Given the description of an element on the screen output the (x, y) to click on. 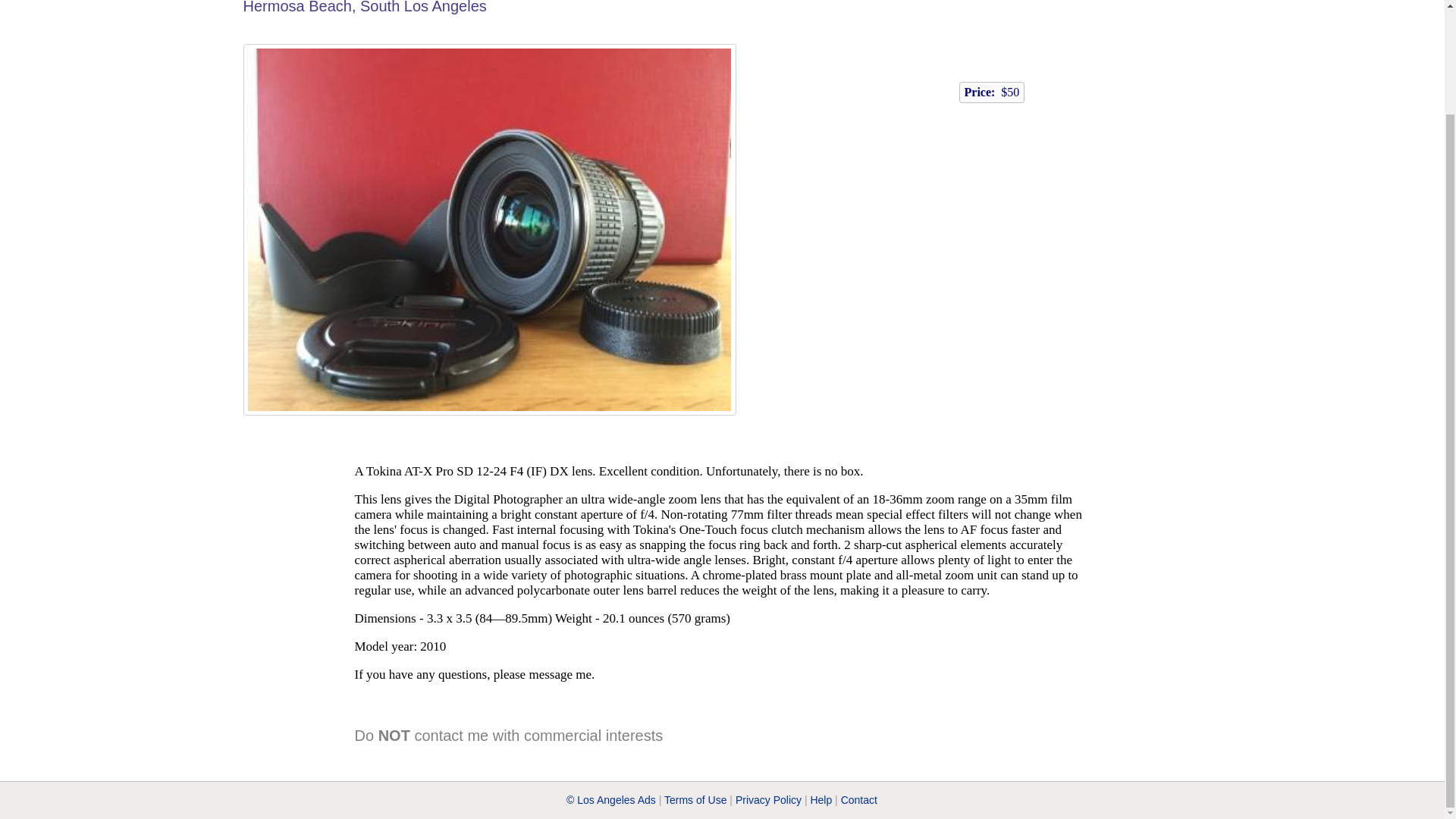
Privacy Policy (768, 799)
Terms of Use (694, 799)
Help (820, 799)
Contact (859, 799)
